Given the description of an element on the screen output the (x, y) to click on. 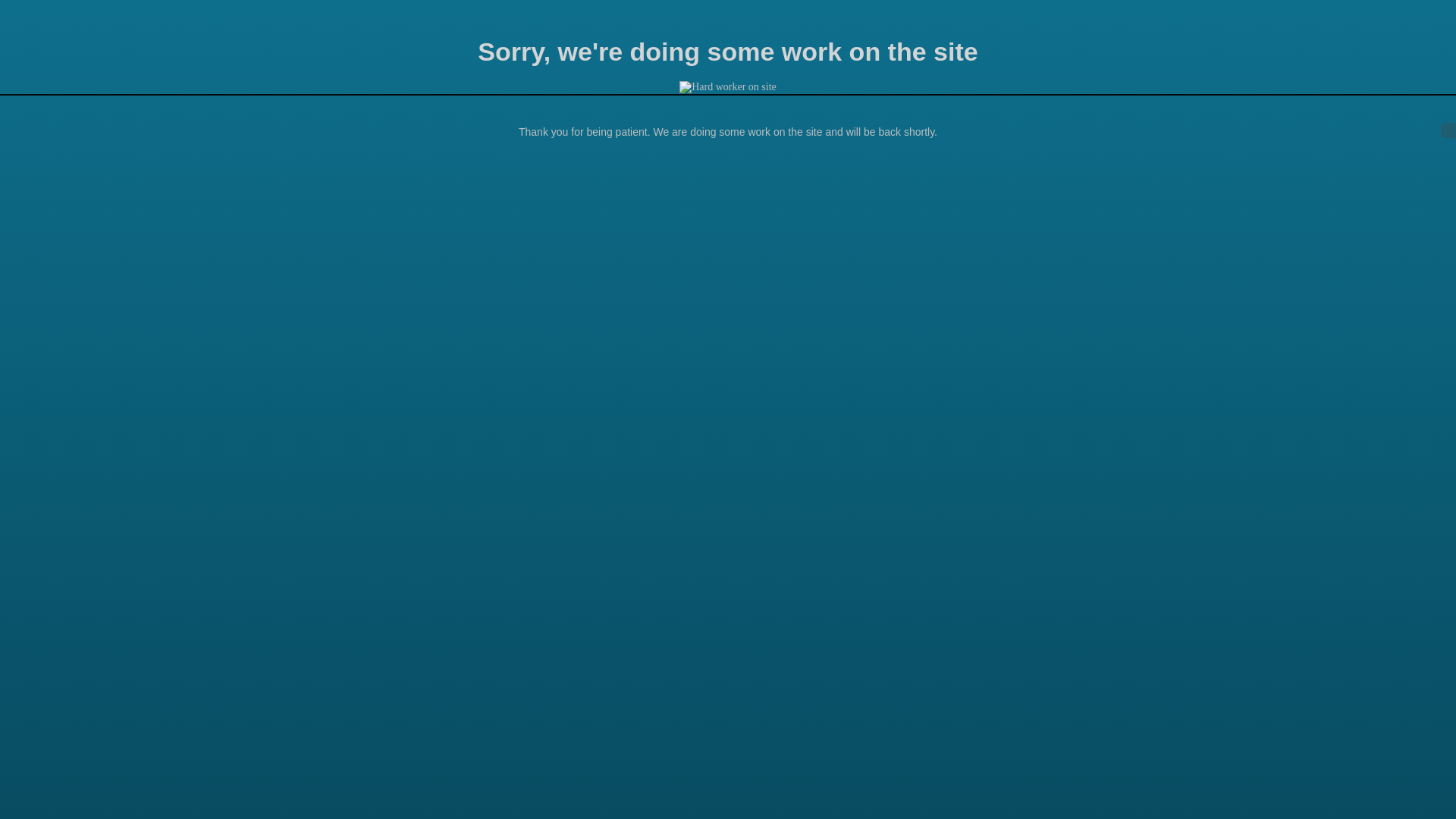
Hard worker on site (727, 87)
